Given the description of an element on the screen output the (x, y) to click on. 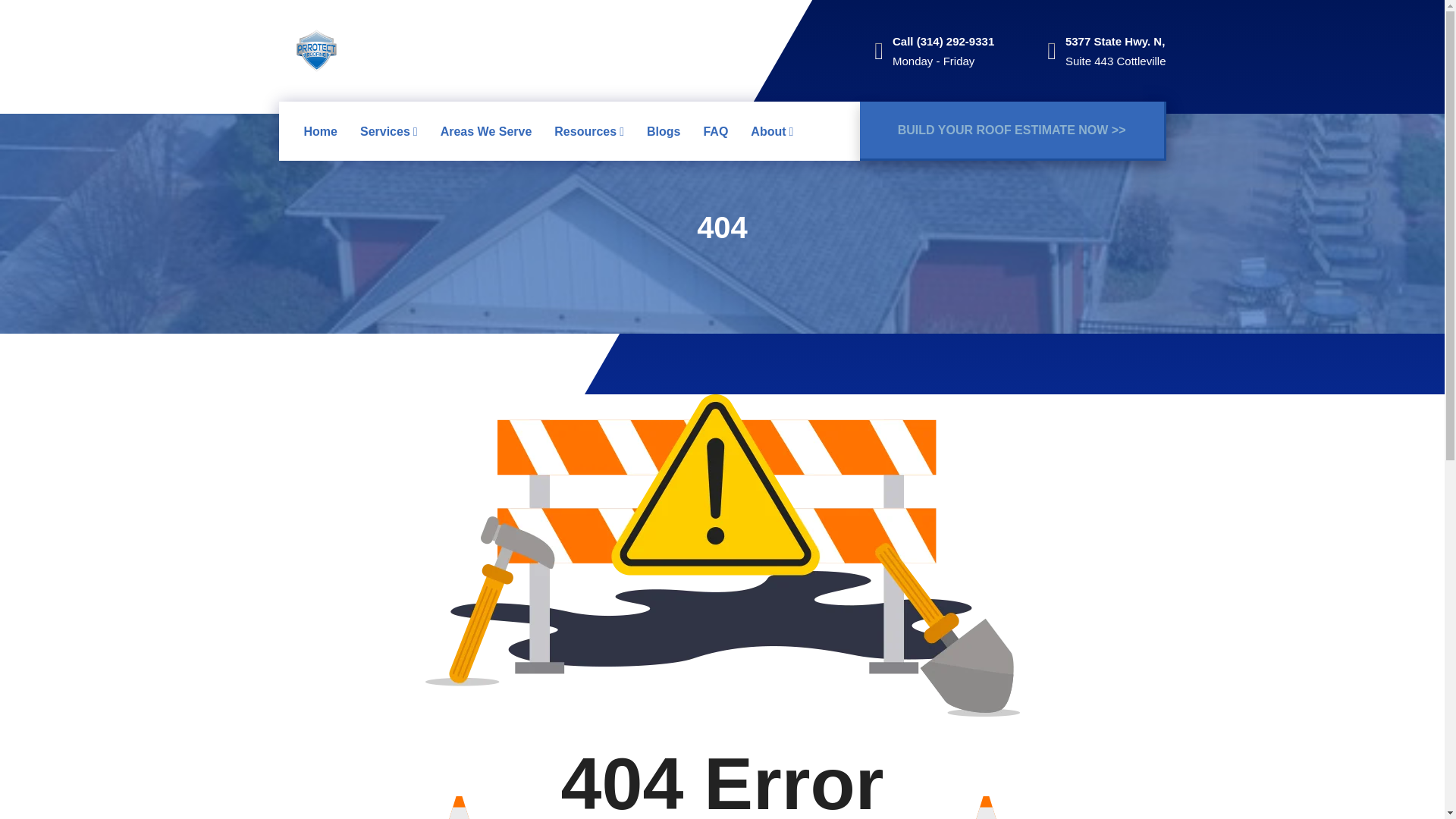
Resources (589, 131)
Areas We Serve (486, 131)
Services (388, 131)
prrotectroofing (316, 49)
